Given the description of an element on the screen output the (x, y) to click on. 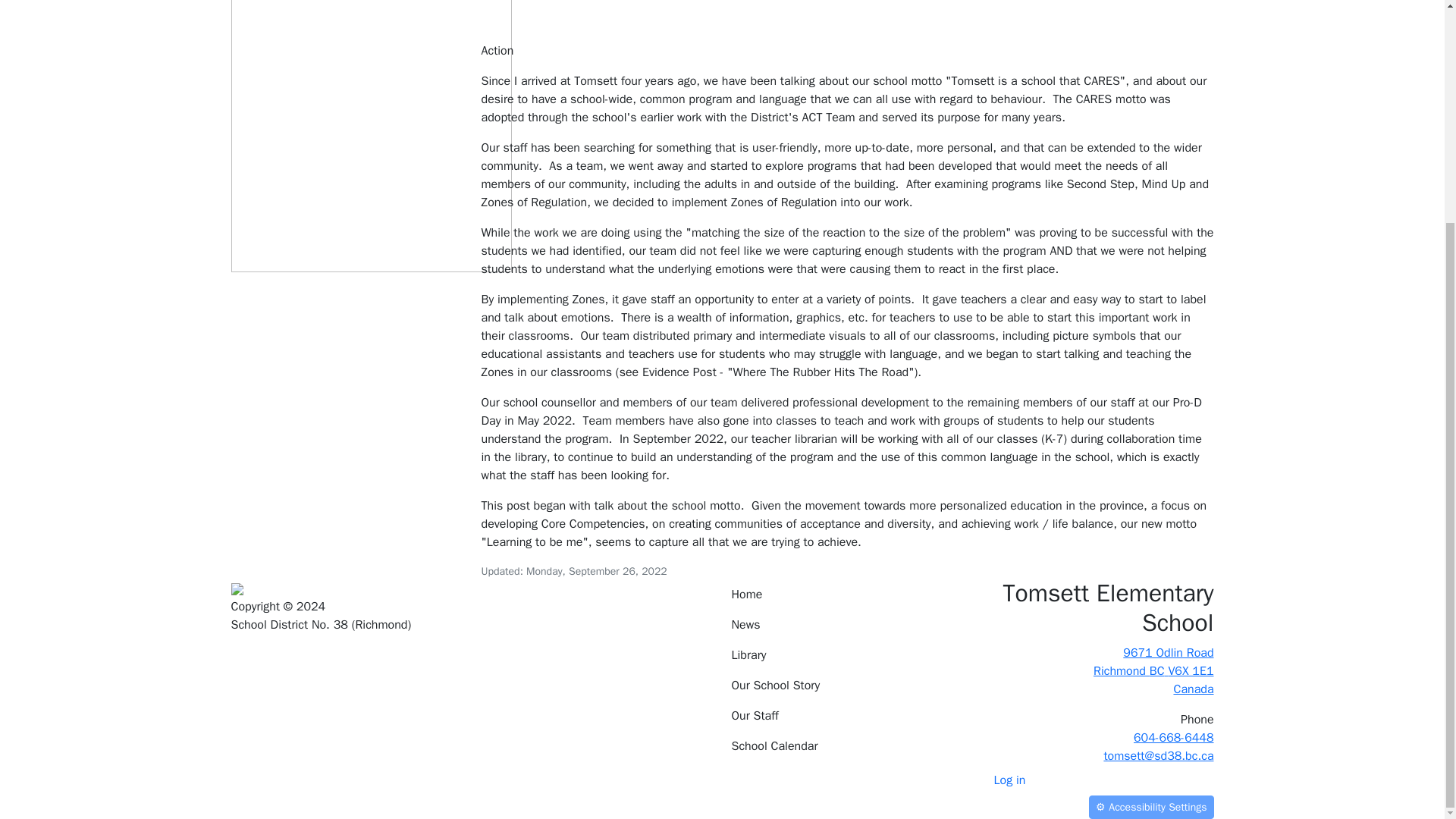
Our School Story (846, 685)
604-668-6448 (1174, 737)
Our Staff (846, 716)
Home (846, 594)
Log in (1008, 779)
5374ff14470a911023d5c1b721121f6a.jpg (1096, 670)
Library (370, 89)
School Calendar (846, 654)
News (846, 746)
